Given the description of an element on the screen output the (x, y) to click on. 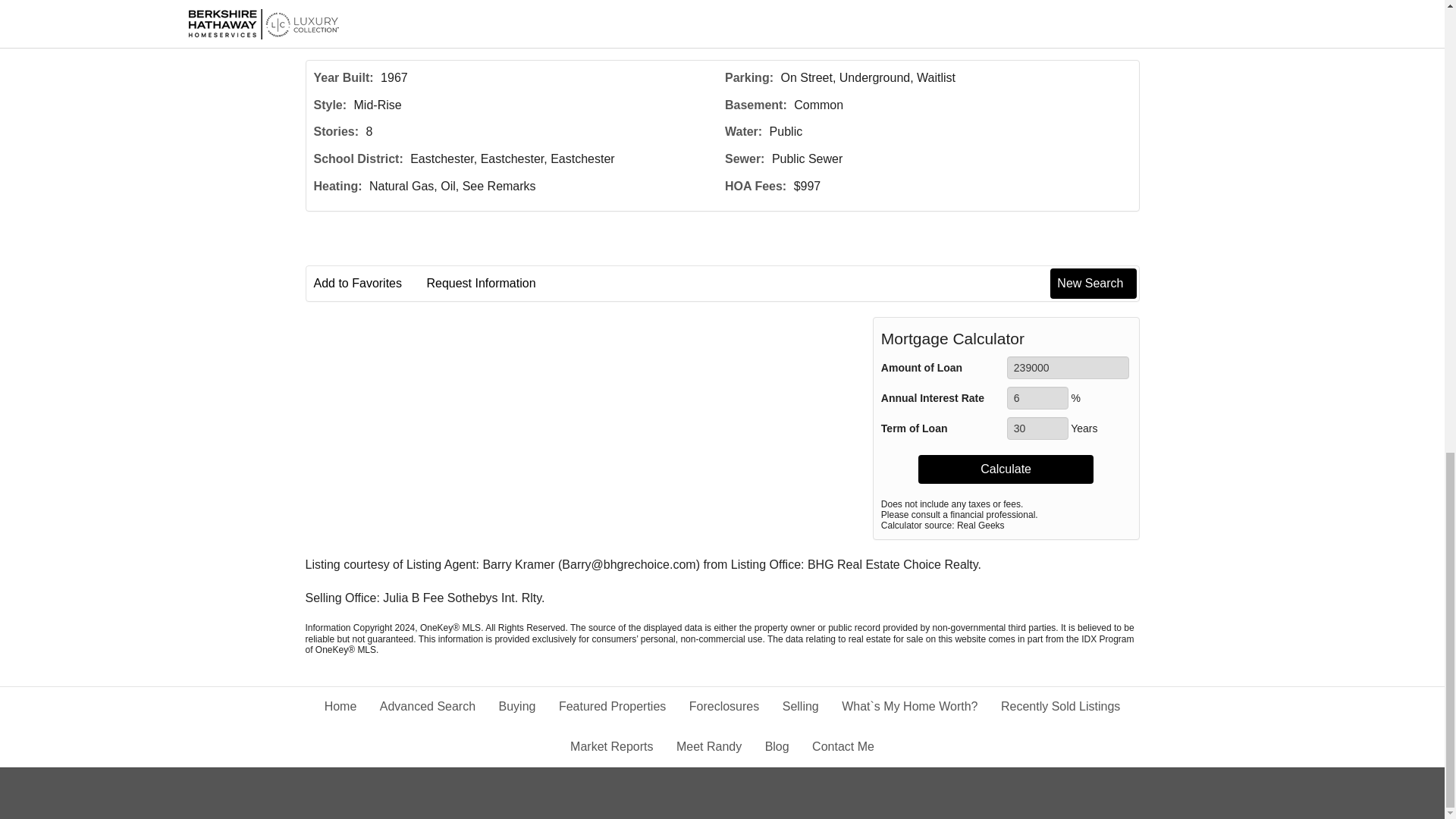
239000 (1068, 367)
30 (1037, 427)
6 (1037, 397)
